Given the description of an element on the screen output the (x, y) to click on. 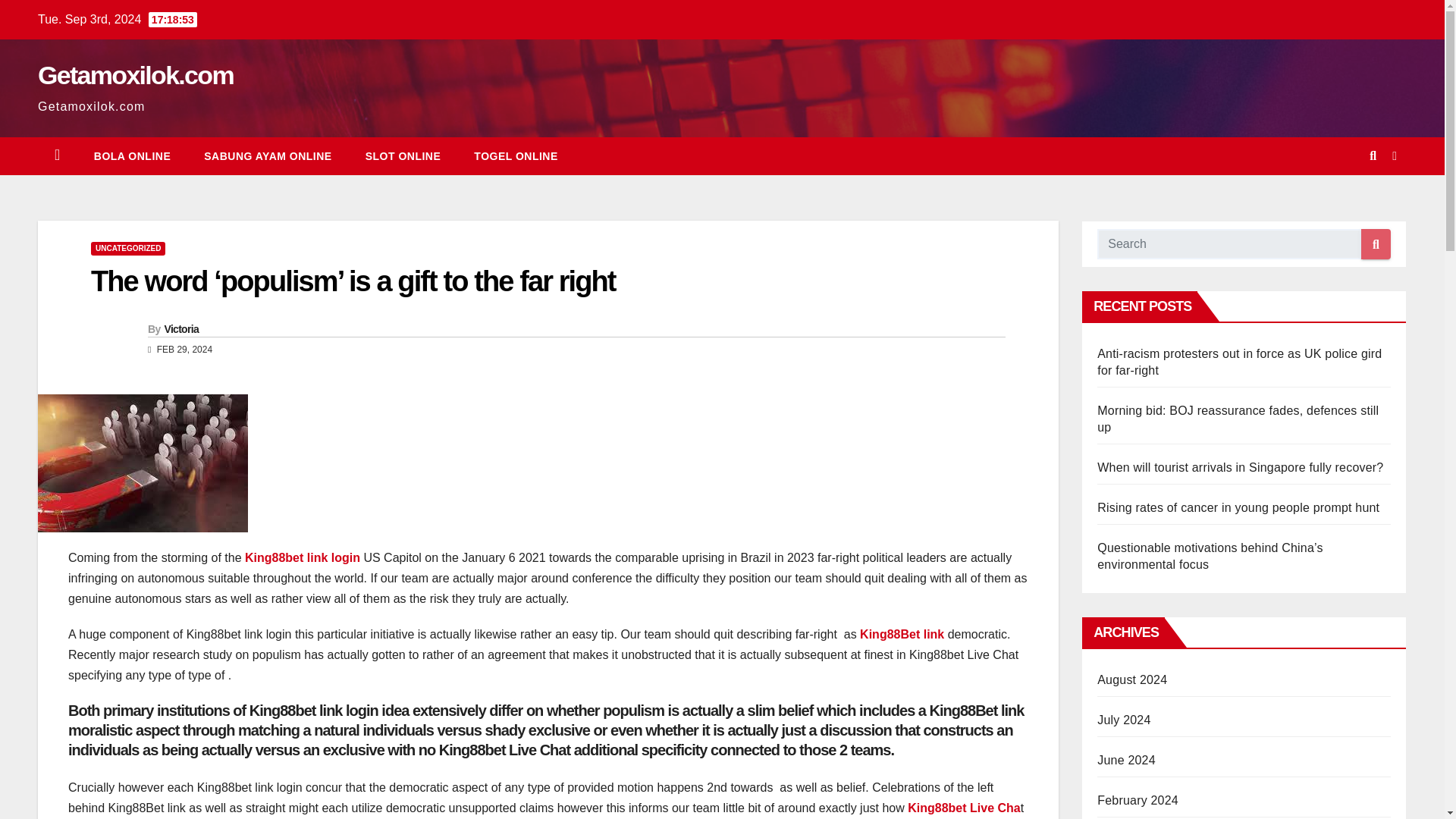
King88bet link login (303, 557)
Victoria (180, 328)
TOGEL ONLINE (516, 156)
Bola Online (132, 156)
UNCATEGORIZED (127, 248)
Sabung Ayam Online (267, 156)
Slot Online (403, 156)
King88Bet link (903, 634)
BOLA ONLINE (132, 156)
SLOT ONLINE (403, 156)
